Given the description of an element on the screen output the (x, y) to click on. 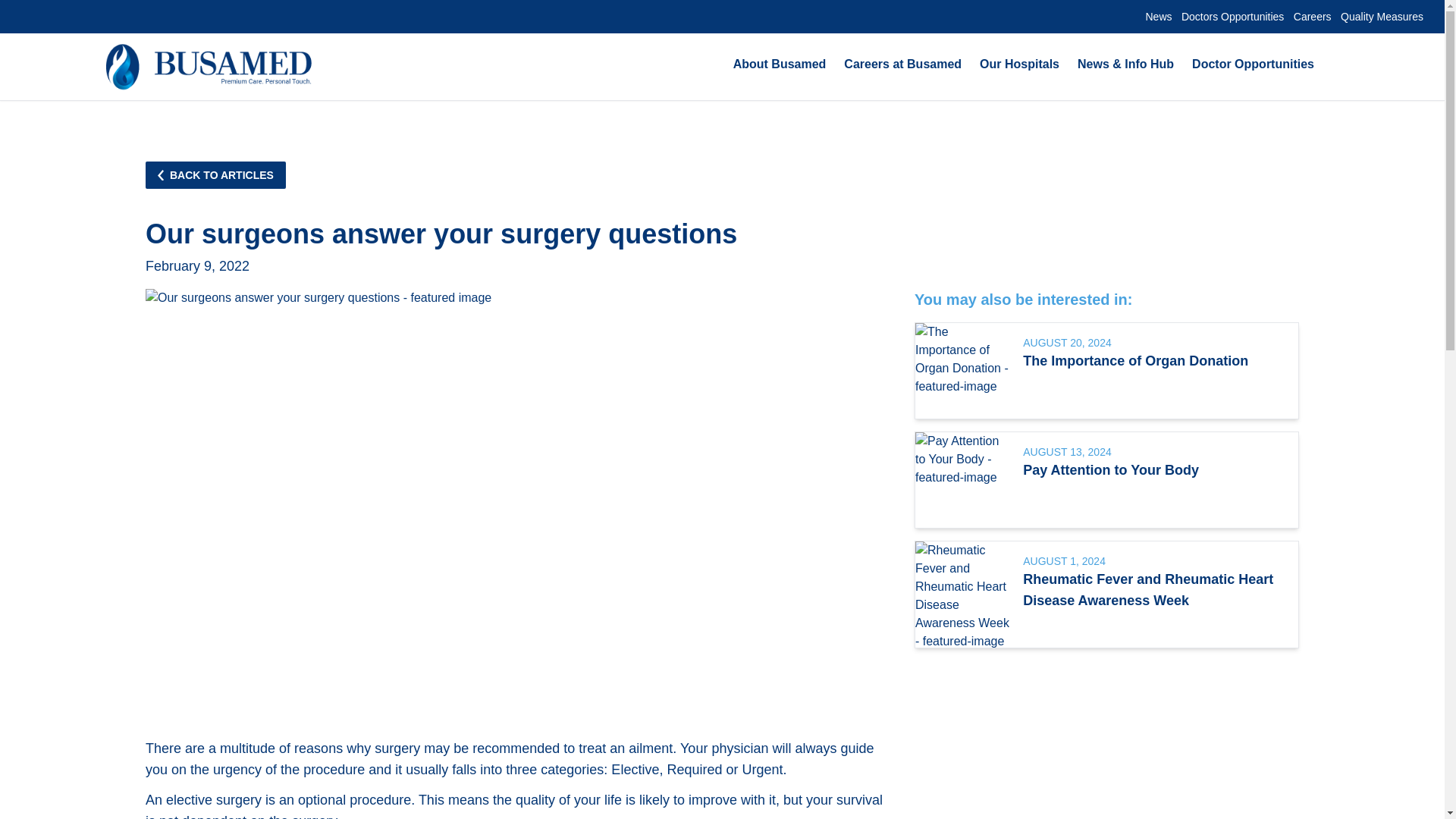
Quality Measures (1382, 16)
Careers (1312, 16)
Careers at Busamed (902, 65)
Pay Attention to Your Body (1154, 469)
Doctors Opportunities (1232, 16)
Doctor Opportunities (1253, 65)
Our Hospitals (1019, 65)
The Importance of Organ Donation (1154, 360)
Rheumatic Fever and Rheumatic Heart Disease Awareness Week (1154, 589)
About Busamed (780, 65)
